Given the description of an element on the screen output the (x, y) to click on. 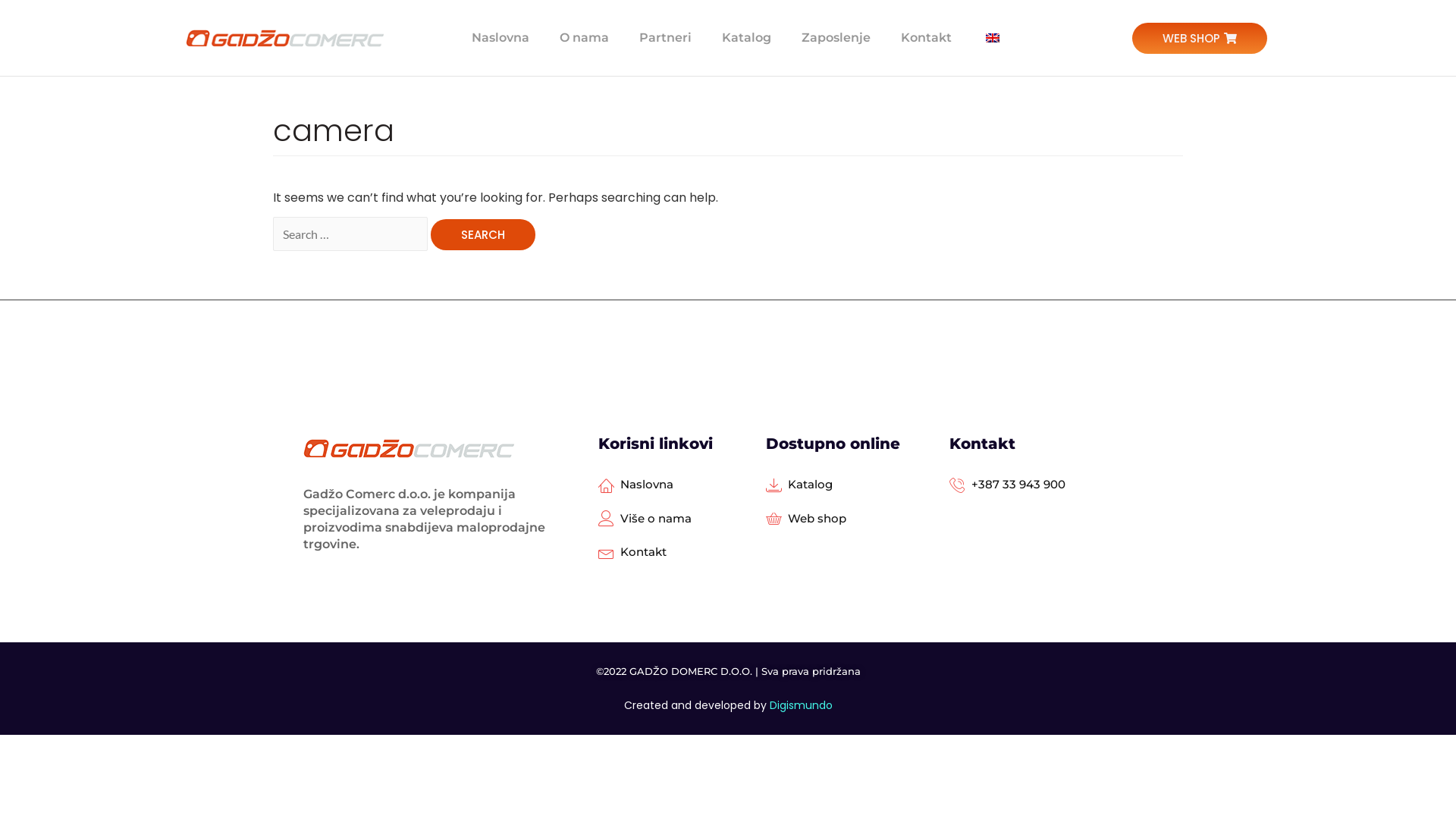
Search Element type: text (482, 234)
Katalog Element type: text (746, 37)
Web shop Element type: text (805, 518)
+387 33 943 900 Element type: text (1007, 484)
English Element type: hover (992, 37)
Katalog Element type: text (798, 484)
Naslovna Element type: text (500, 37)
O nama Element type: text (584, 37)
Kontakt Element type: text (632, 551)
Partneri Element type: text (665, 37)
Kontakt Element type: text (925, 37)
Zaposlenje Element type: text (835, 37)
WEB SHOP Element type: text (1199, 37)
Digismundo Element type: text (799, 704)
Naslovna Element type: text (635, 484)
